Given the description of an element on the screen output the (x, y) to click on. 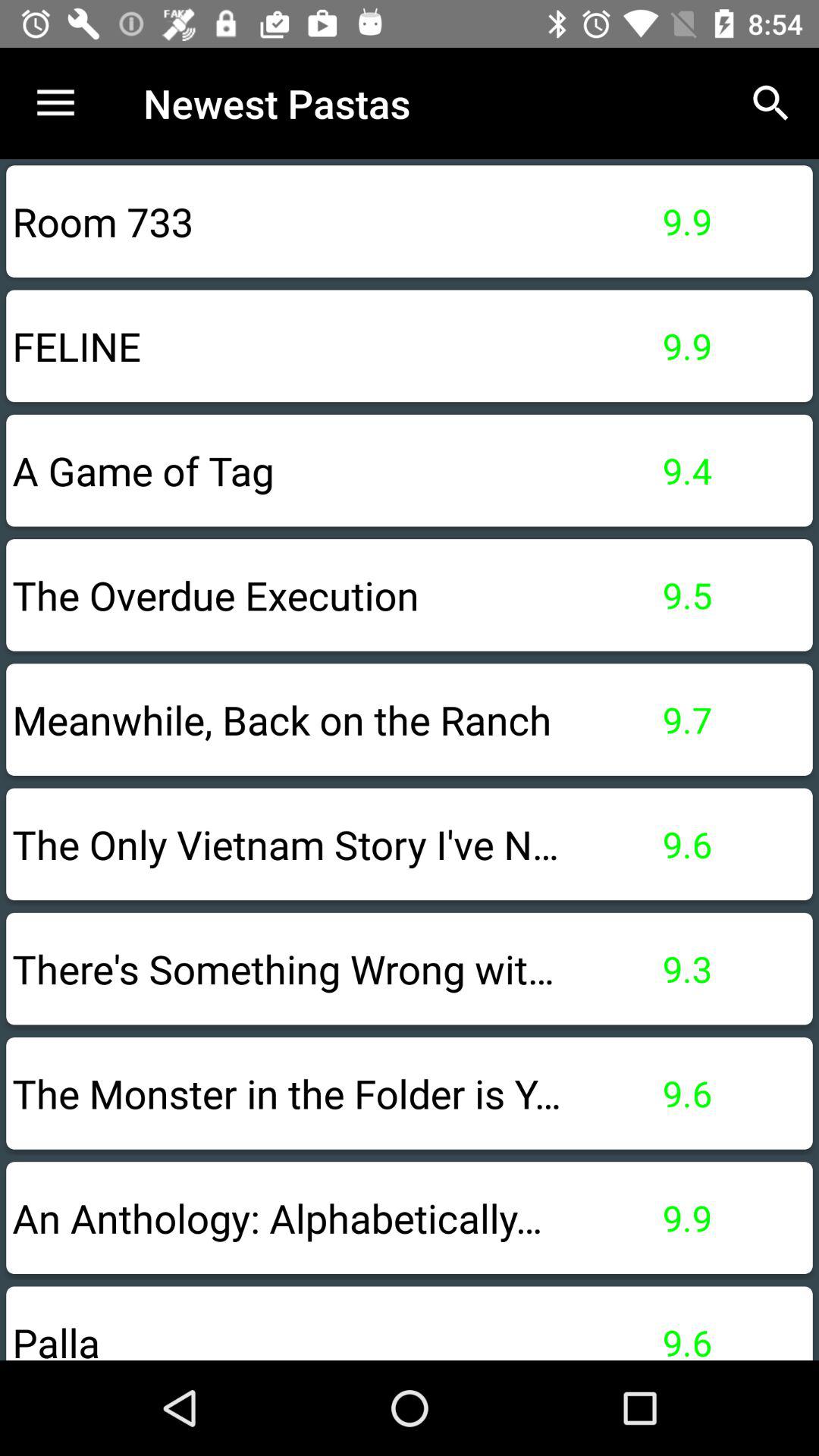
select item above room 733 (55, 103)
